Given the description of an element on the screen output the (x, y) to click on. 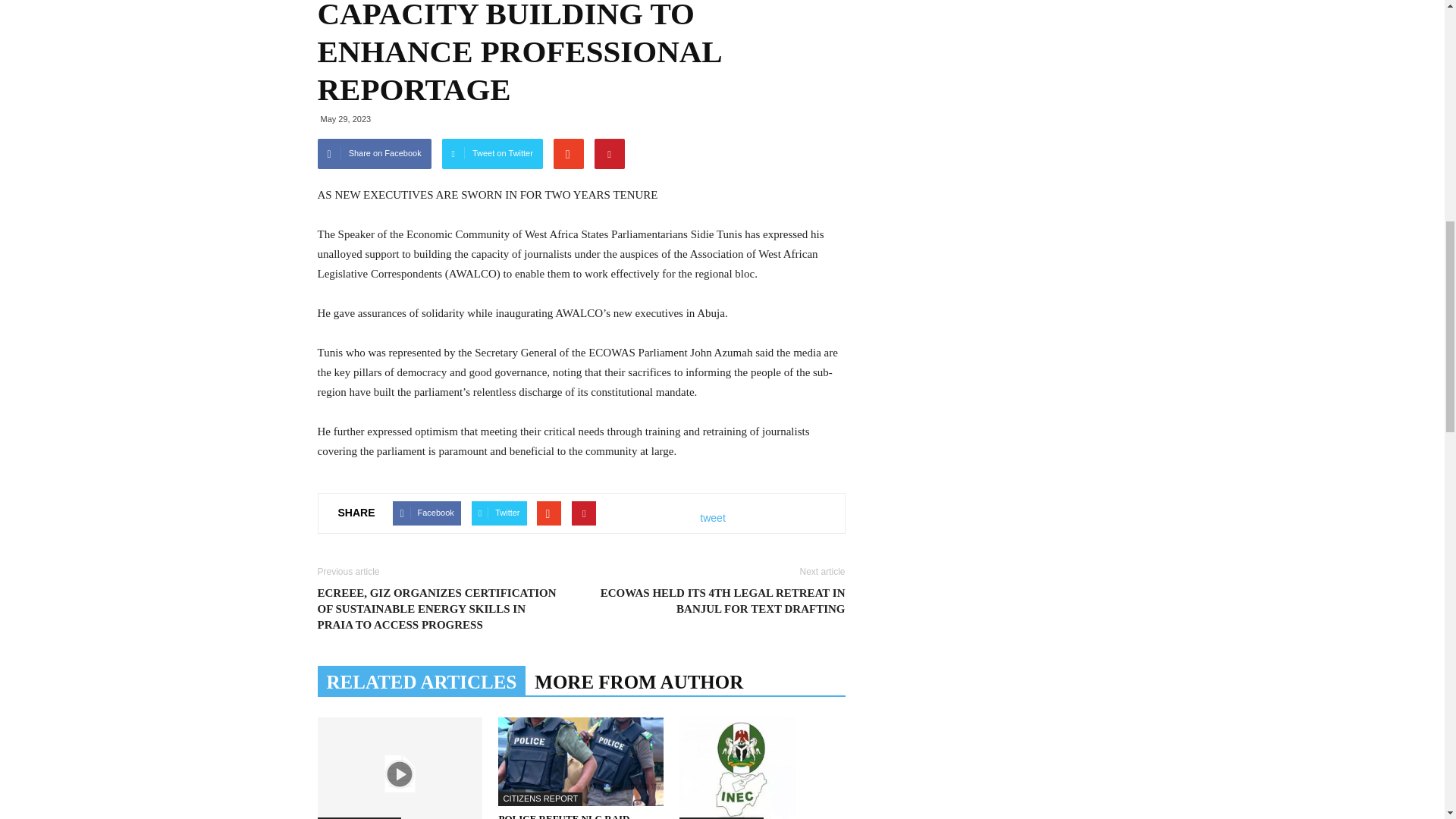
EDO 2024: INEC RAISES ALARM OVER LOW AGENT SUBMISSIONS (761, 768)
EDO 2024: INEC RAISES ALARM OVER LOW AGENT SUBMISSIONS (737, 768)
